Given the description of an element on the screen output the (x, y) to click on. 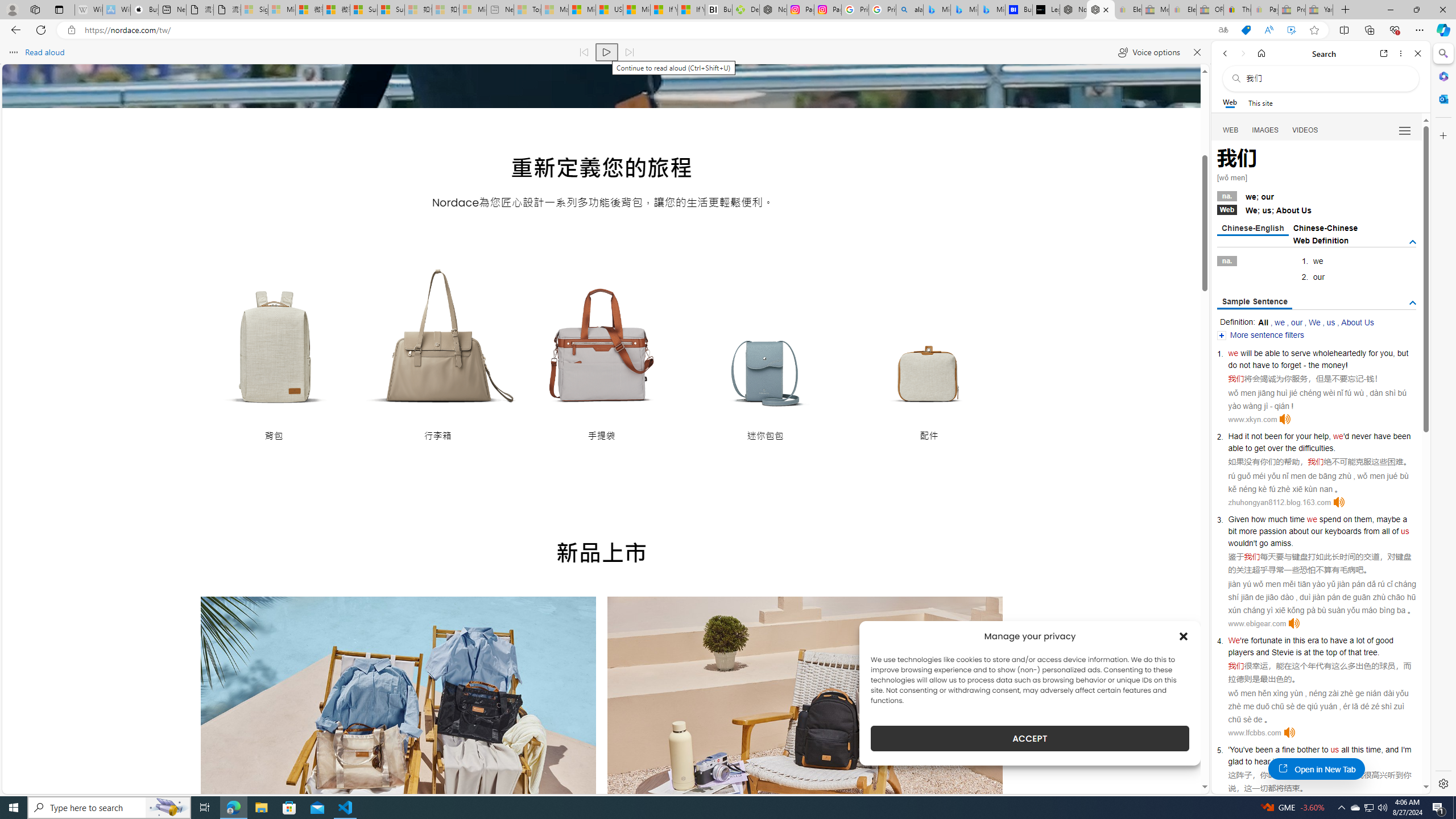
na.we; our (1316, 195)
Microsoft Bing Travel - Shangri-La Hotel Bangkok (991, 9)
your (1303, 435)
in (1287, 640)
money (1332, 364)
